Given the description of an element on the screen output the (x, y) to click on. 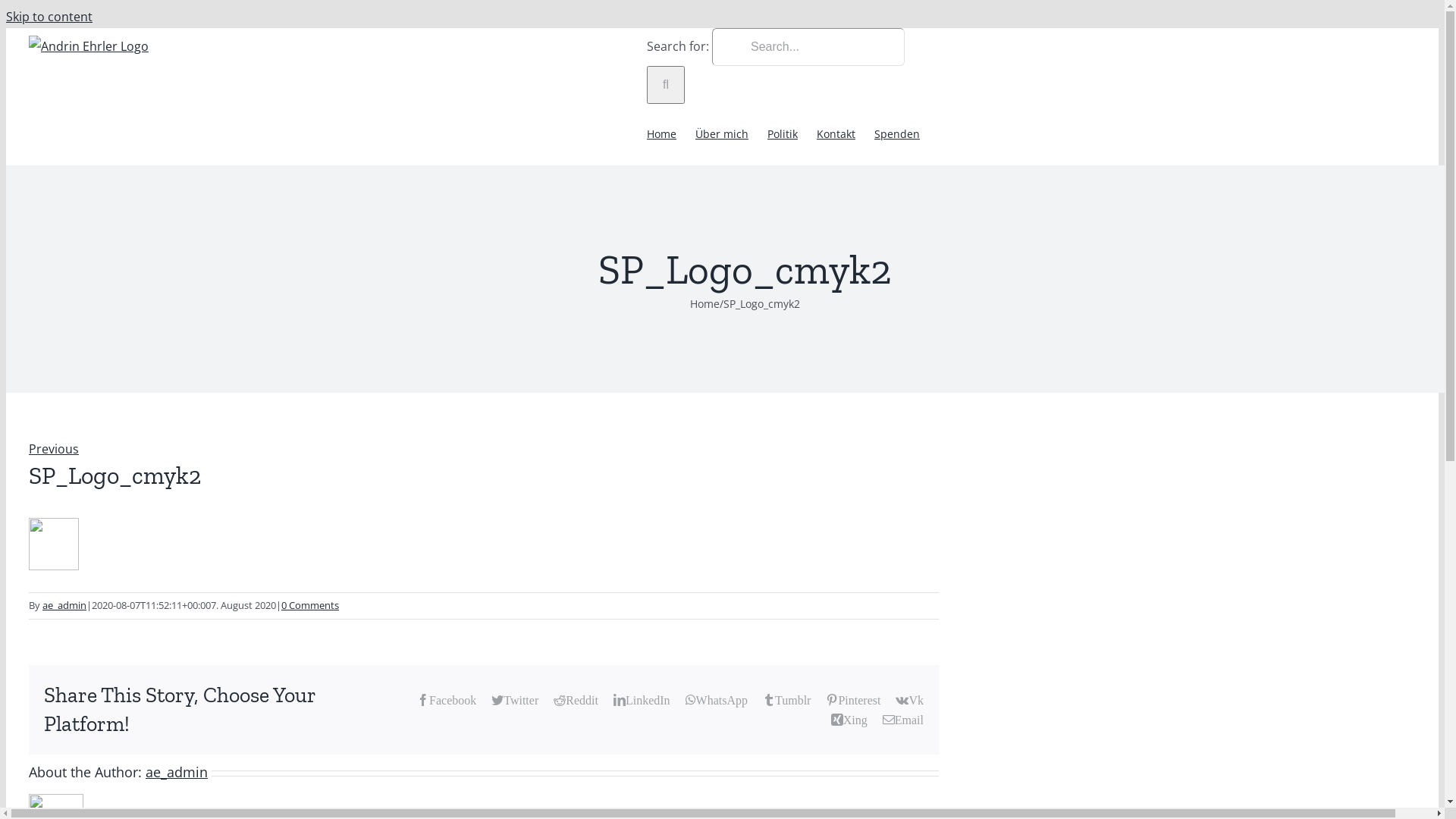
Xing Element type: text (849, 719)
Email Element type: text (902, 719)
Reddit Element type: text (575, 699)
ae_admin Element type: text (176, 771)
0 Comments Element type: text (309, 604)
Home Element type: text (661, 134)
Tumblr Element type: text (786, 699)
LinkedIn Element type: text (641, 699)
Pinterest Element type: text (852, 699)
Vk Element type: text (909, 699)
Kontakt Element type: text (835, 134)
Skip to content Element type: text (49, 16)
Spenden Element type: text (896, 134)
Home Element type: text (704, 303)
Previous Element type: text (53, 448)
Twitter Element type: text (514, 699)
Facebook Element type: text (446, 699)
ae_admin Element type: text (64, 604)
WhatsApp Element type: text (716, 699)
Politik Element type: text (782, 134)
